Given the description of an element on the screen output the (x, y) to click on. 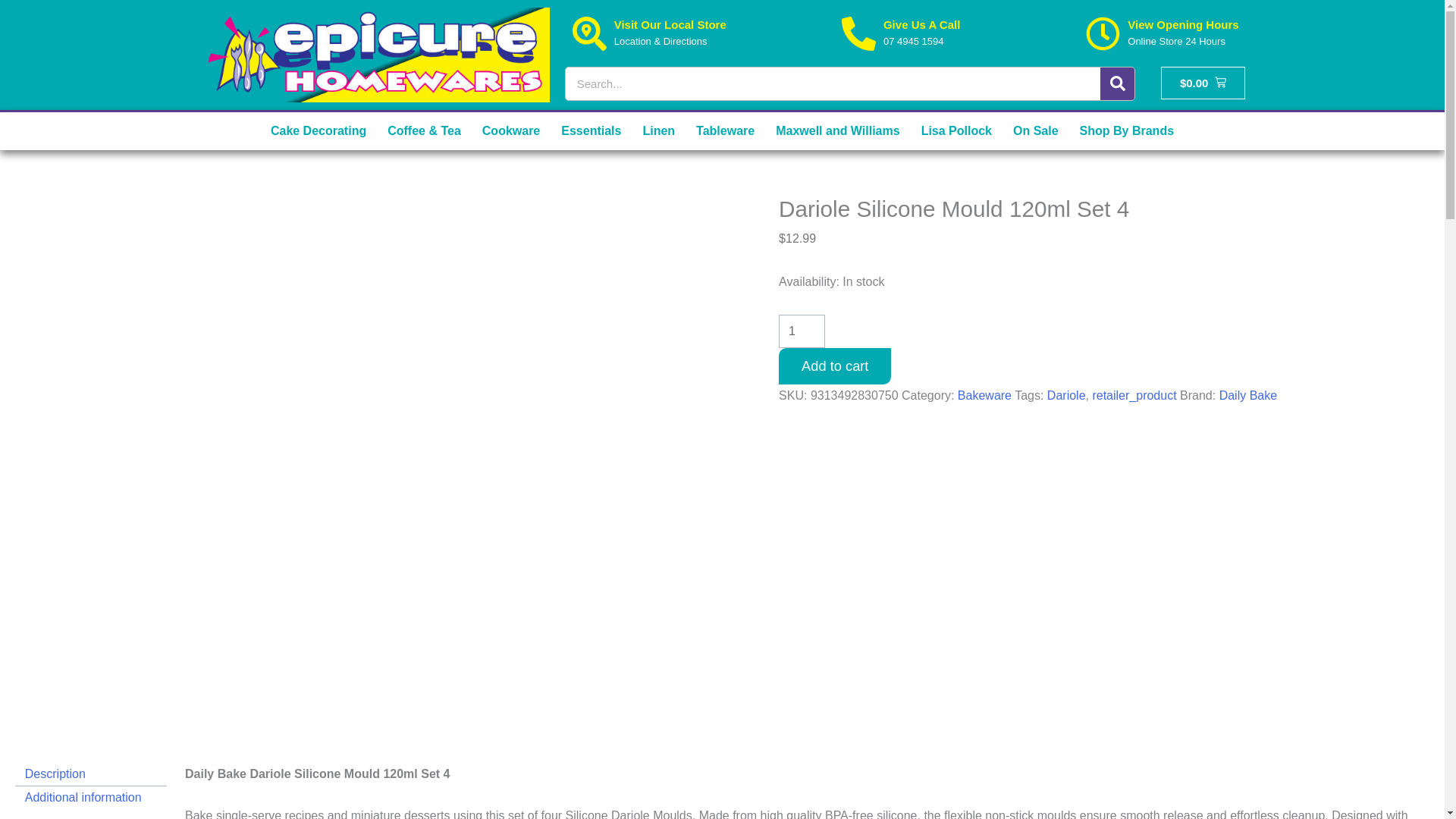
Give Us A Call (921, 24)
Visit Our Local Store (670, 24)
Search (1117, 83)
1 (801, 331)
View Opening Hours (1182, 24)
Cake Decorating (318, 130)
